Given the description of an element on the screen output the (x, y) to click on. 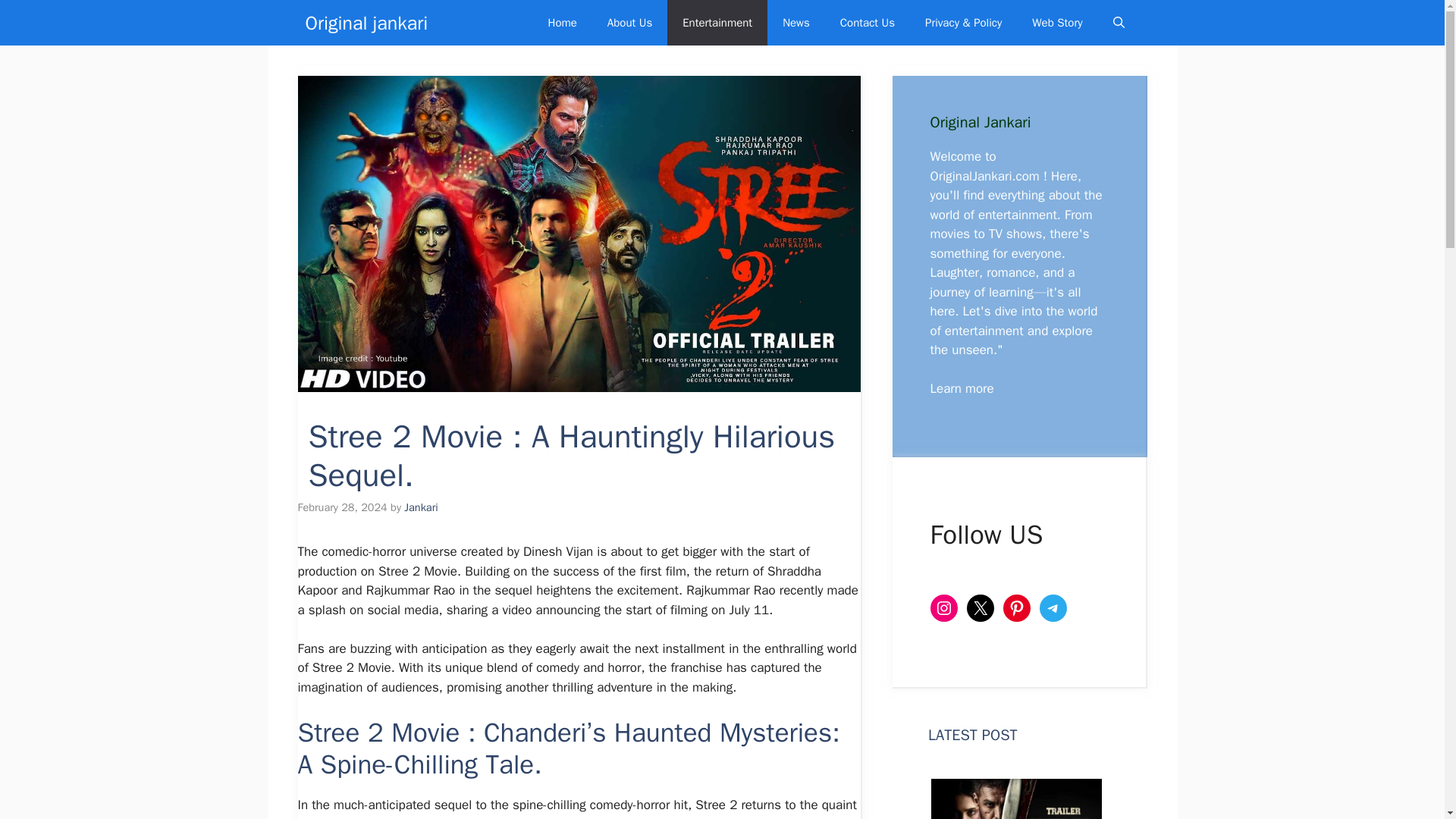
About Us (629, 22)
News (796, 22)
Contact Us (867, 22)
X (979, 607)
Telegram (1052, 607)
Home (561, 22)
Entertainment (716, 22)
View all posts by Jankari (421, 507)
Original jankari (366, 22)
Jankari (421, 507)
Pinterest (1016, 607)
Instagram (943, 607)
Web Story (1056, 22)
